Given the description of an element on the screen output the (x, y) to click on. 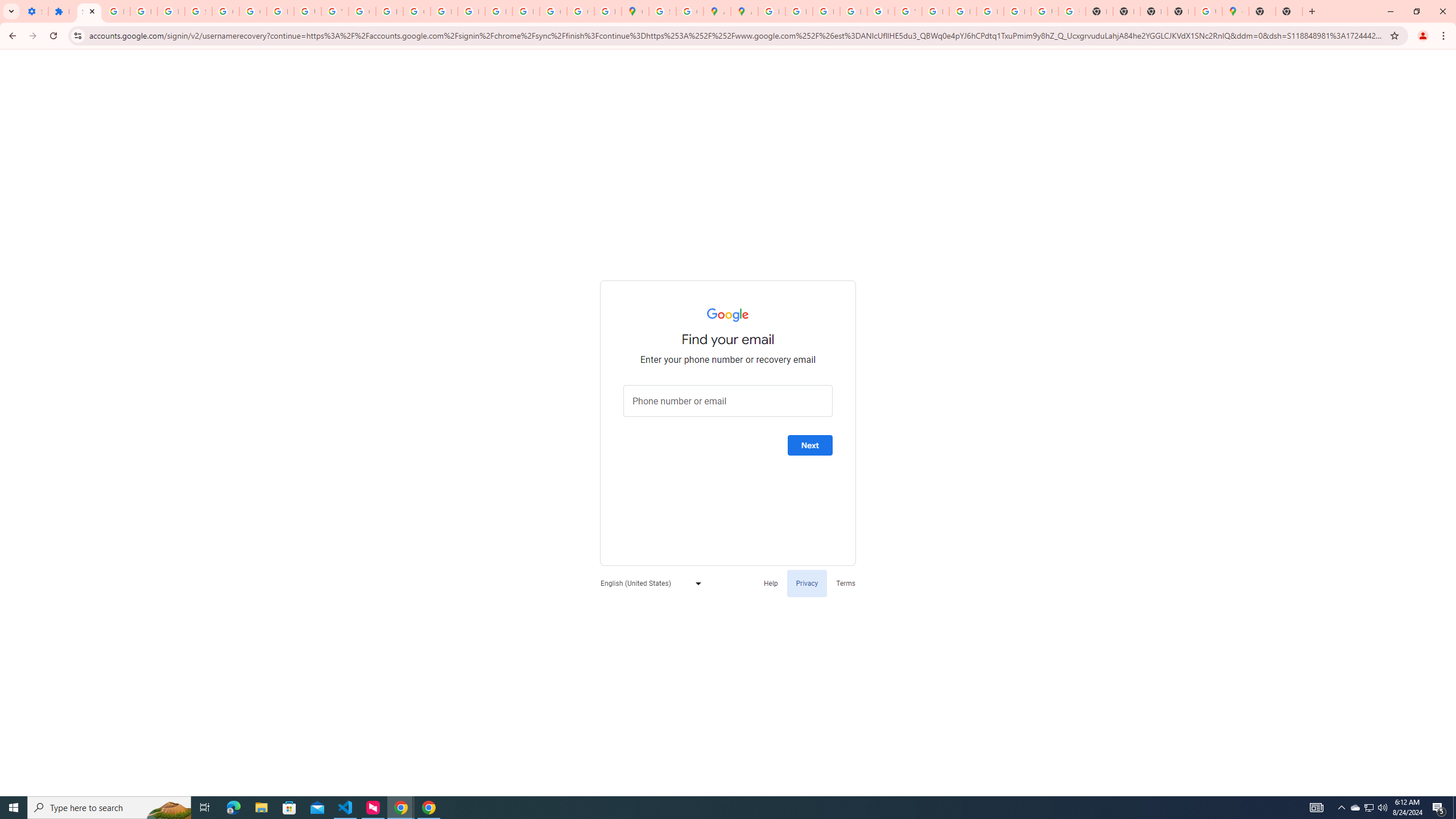
Extensions (61, 11)
Phone number or email (727, 400)
